Given the description of an element on the screen output the (x, y) to click on. 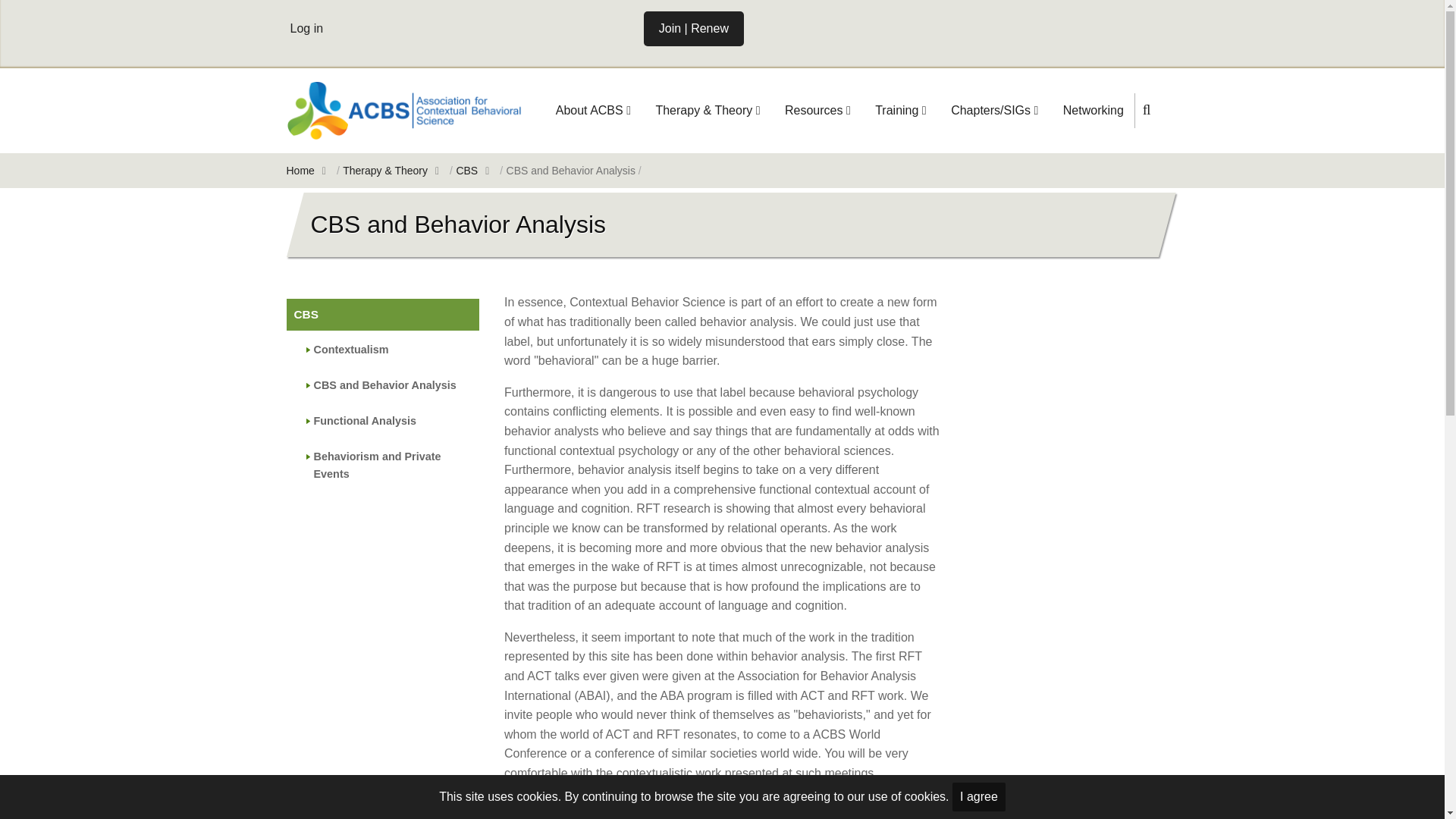
Resources (817, 110)
Training (900, 110)
Home (403, 109)
Log in (306, 28)
About ACBS (593, 110)
